Given the description of an element on the screen output the (x, y) to click on. 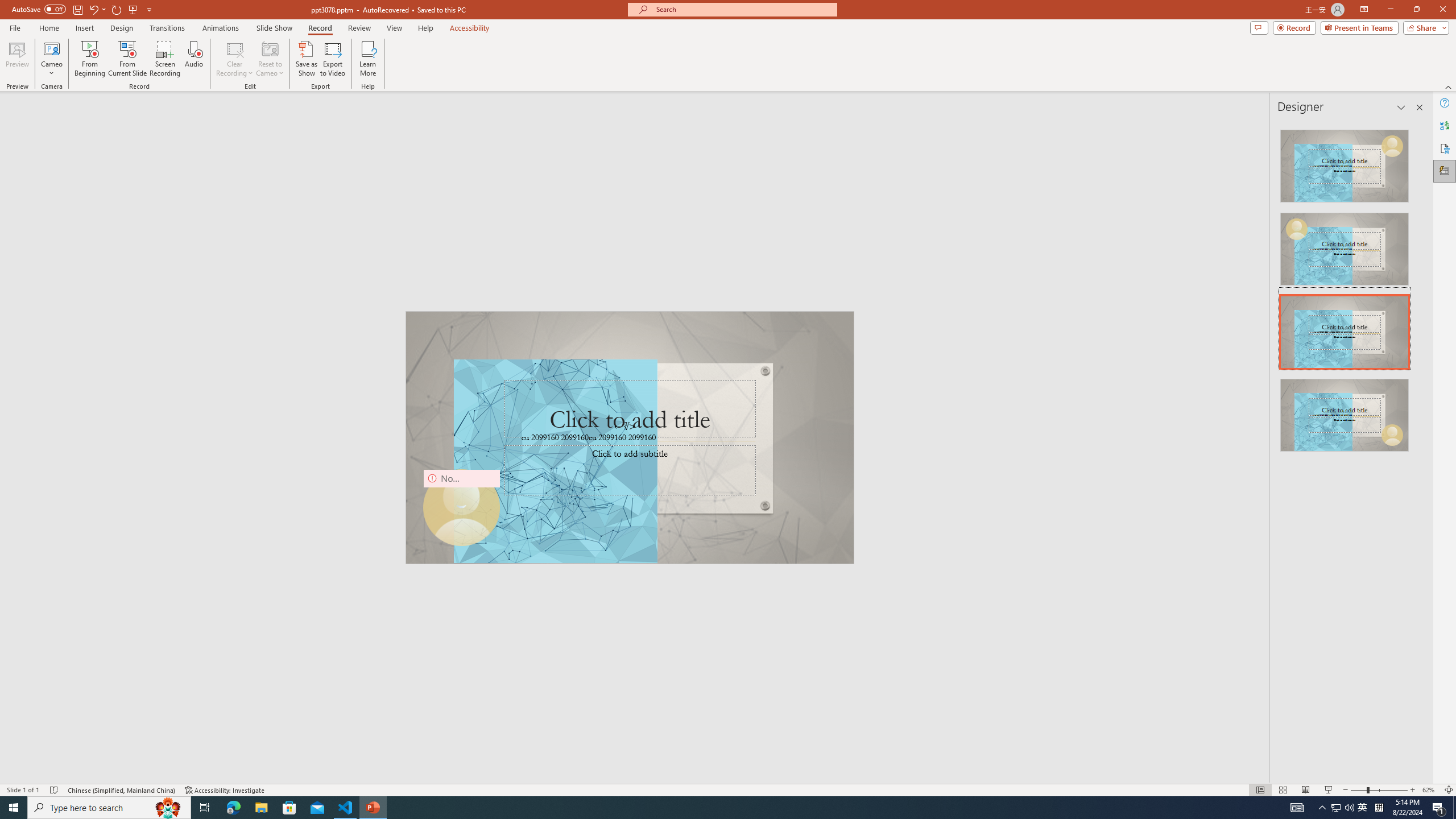
Screen Recording (165, 58)
Subtitle TextBox (629, 470)
